Given the description of an element on the screen output the (x, y) to click on. 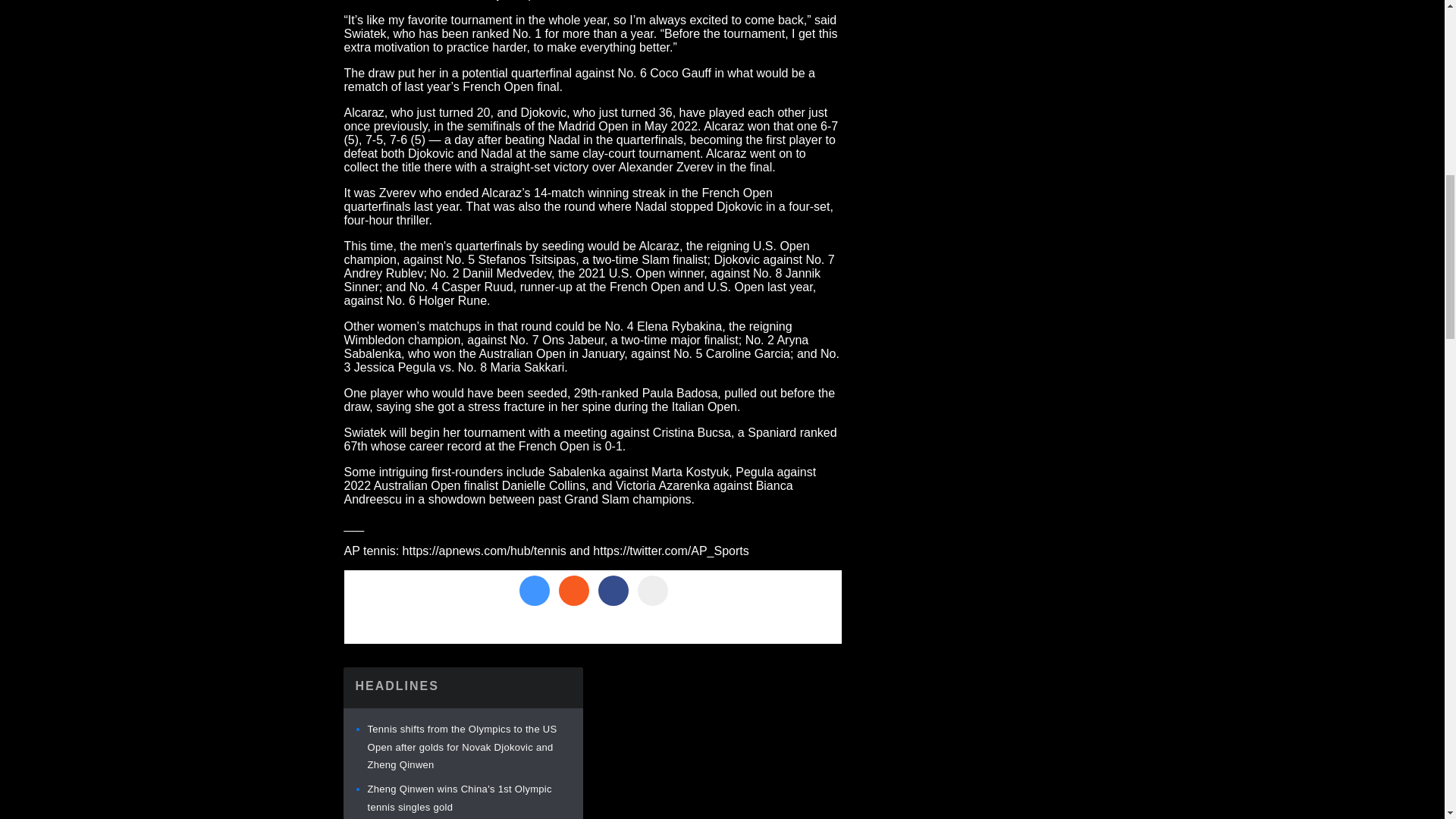
Zheng Qinwen wins China's 1st Olympic tennis singles gold (458, 797)
Twitter (533, 590)
Email (651, 590)
Reddit (572, 590)
Facebook (611, 590)
